Given the description of an element on the screen output the (x, y) to click on. 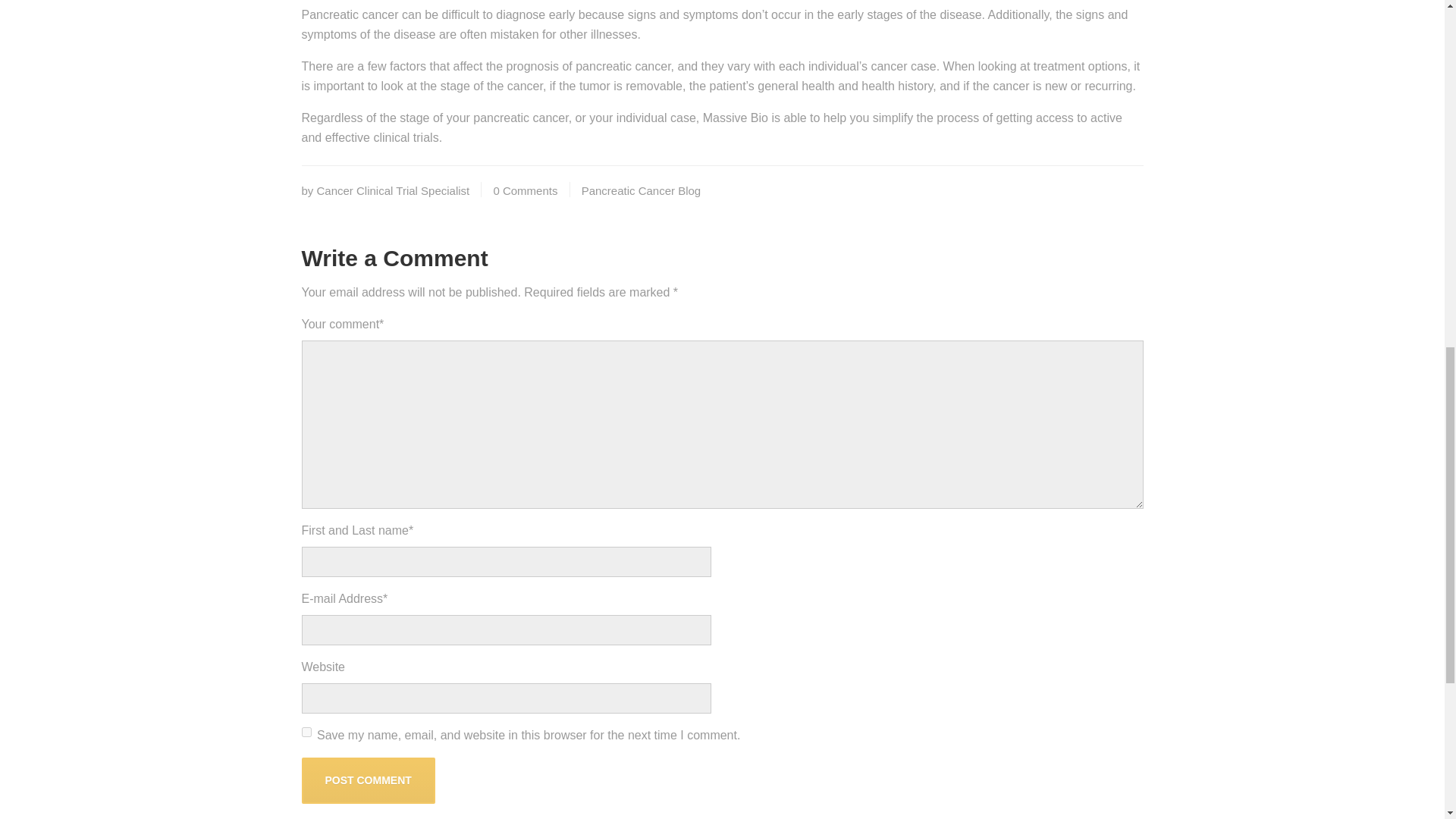
Pancreatic Cancer Blog (640, 190)
Post Comment (368, 780)
Post Comment (368, 780)
yes (306, 732)
0 Comments (525, 190)
